Given the description of an element on the screen output the (x, y) to click on. 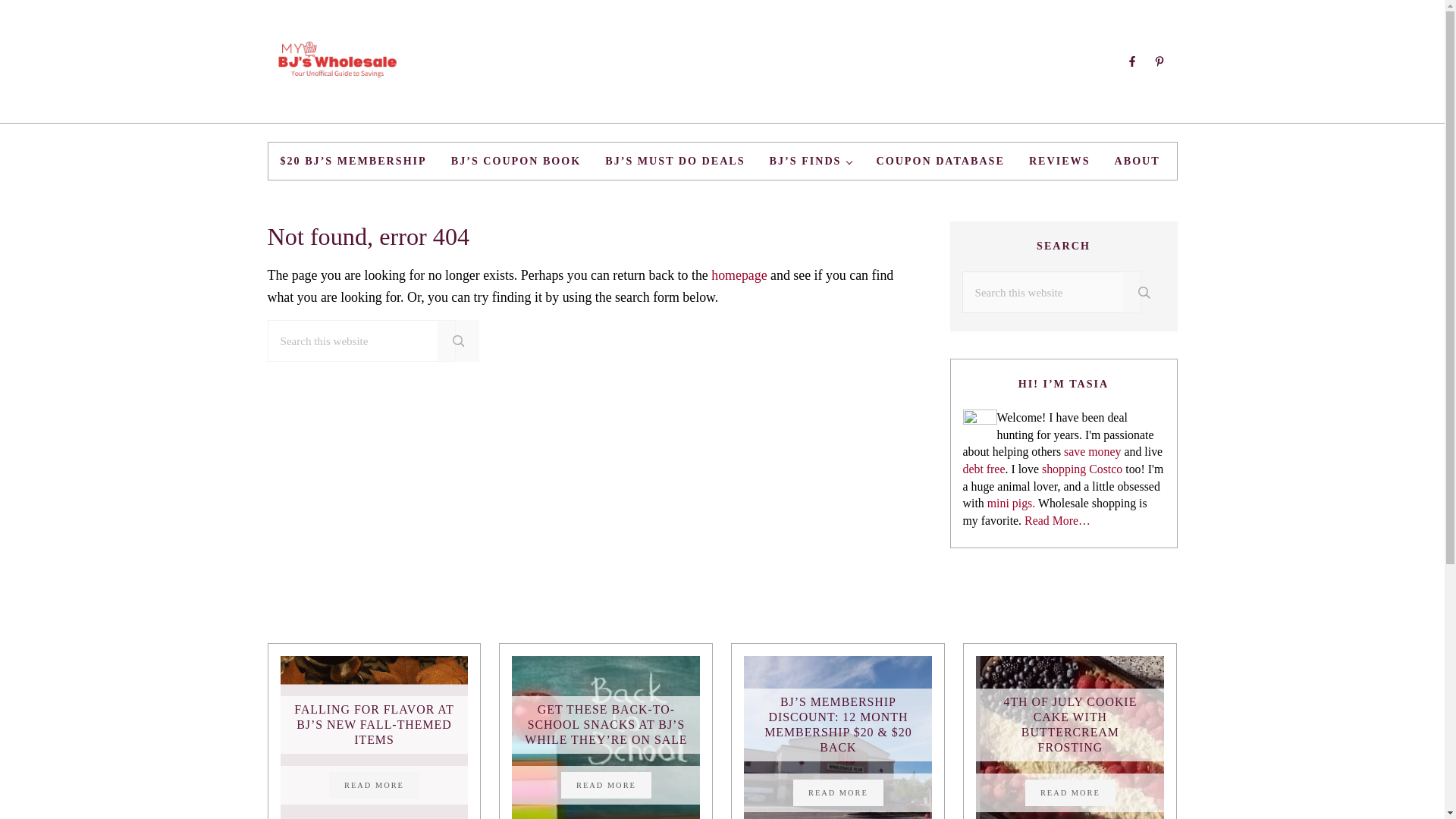
homepage (739, 274)
ABOUT (1137, 160)
SUBMIT SEARCH (459, 340)
REVIEWS (1059, 160)
COUPON DATABASE (939, 160)
mini pigs. (1011, 502)
shopping Costco (1080, 468)
save money (1092, 451)
debt free (984, 468)
